Given the description of an element on the screen output the (x, y) to click on. 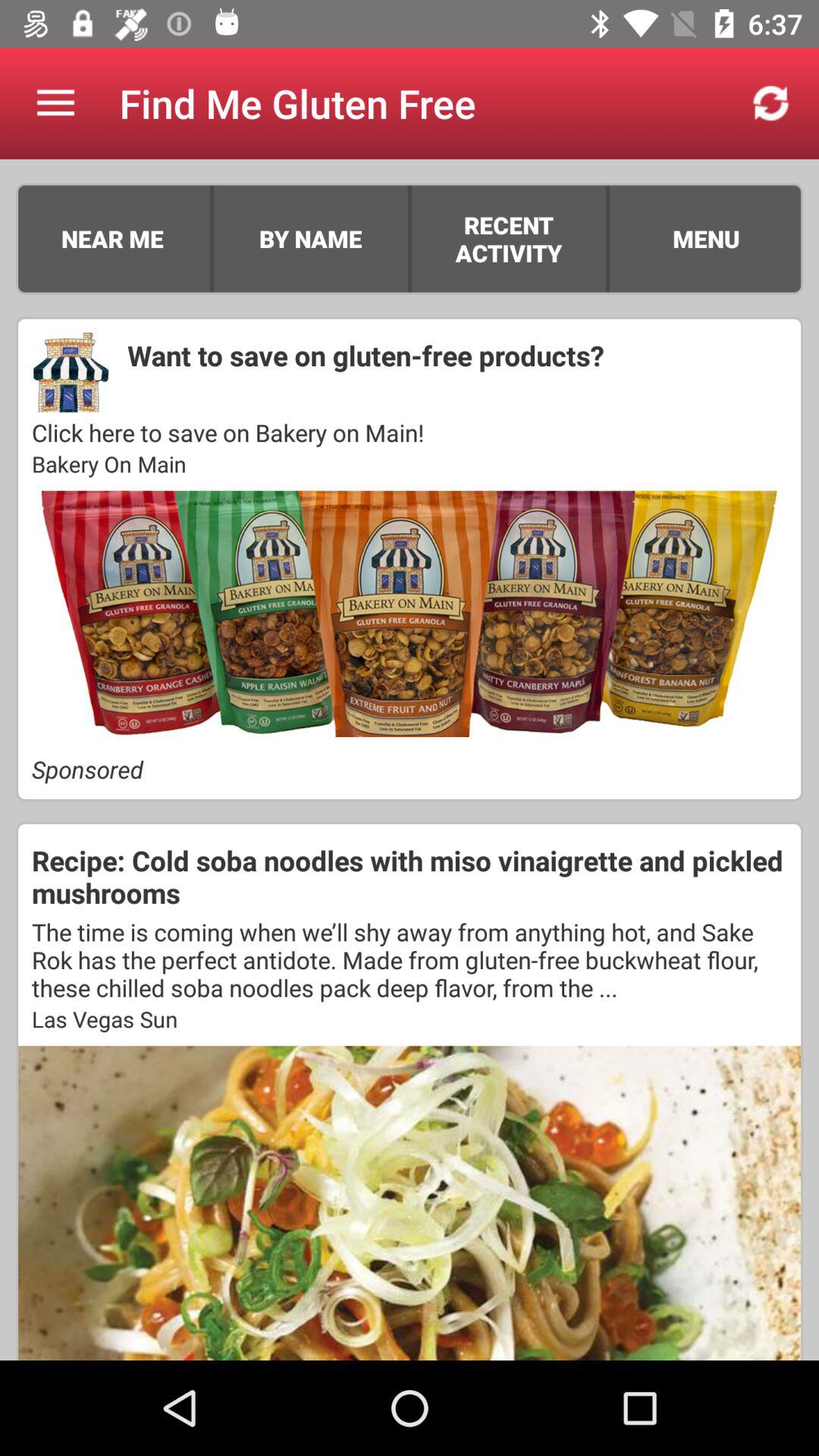
tap item next to recent activity (409, 238)
